Given the description of an element on the screen output the (x, y) to click on. 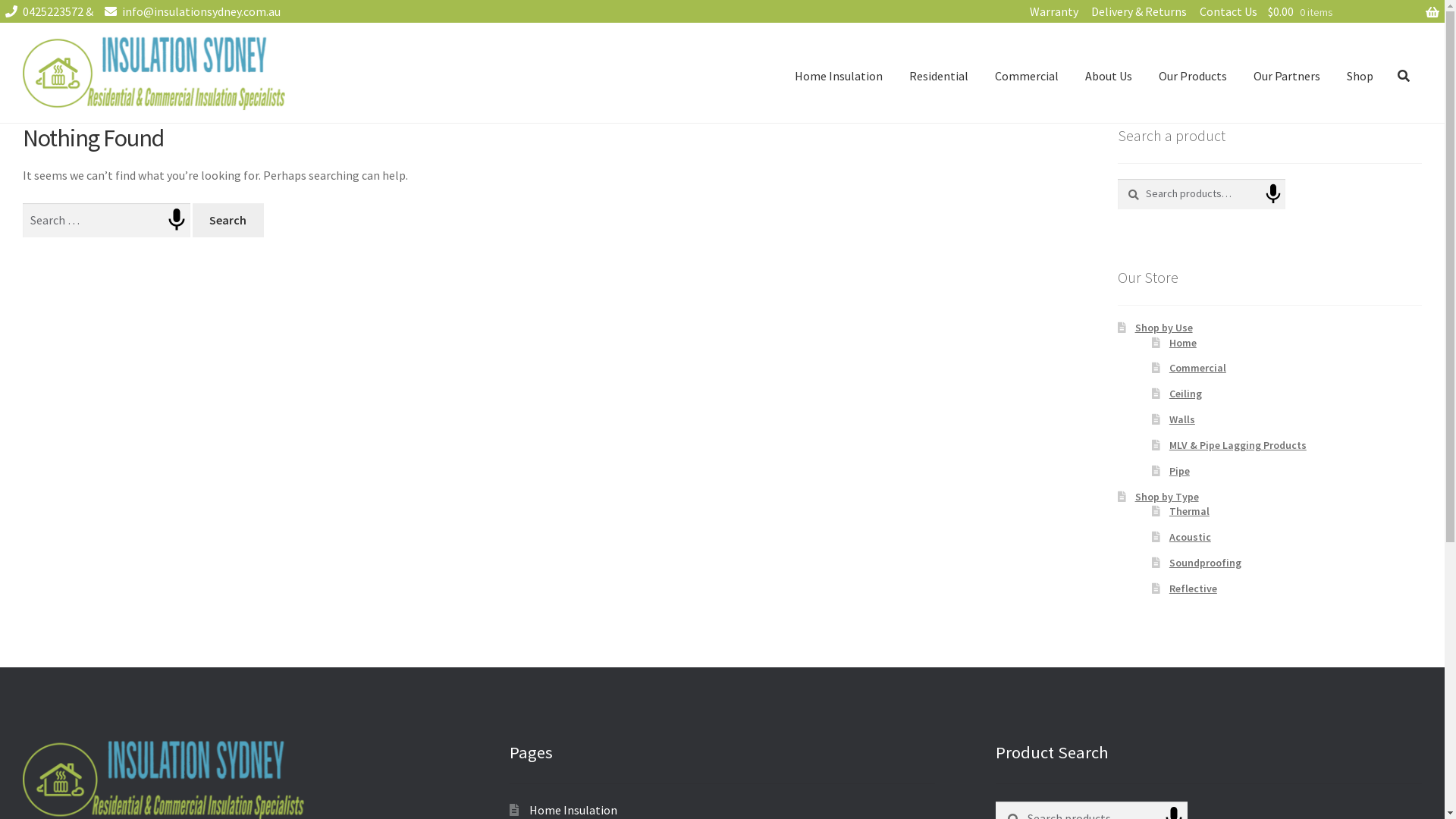
Warranty Element type: text (1053, 11)
info@insulationsydney.com.au Element type: text (189, 10)
Delivery & Returns Element type: text (1138, 11)
Search Element type: text (227, 220)
Thermal Element type: text (1189, 510)
Commercial Element type: text (1197, 367)
0425223572 & Element type: text (47, 10)
Acoustic Element type: text (1190, 536)
Home Element type: text (1182, 342)
Commercial Element type: text (1026, 76)
Pipe Element type: text (1179, 470)
Residential Element type: text (938, 76)
Speech Input Element type: text (1273, 194)
Home Insulation Element type: text (573, 809)
About Us Element type: text (1108, 76)
$0.00 0 items Element type: text (1353, 11)
Search Element type: text (994, 800)
Speech Input Element type: text (176, 219)
Our Products Element type: text (1192, 76)
Walls Element type: text (1182, 419)
Ceiling Element type: text (1185, 393)
Shop Element type: text (1359, 76)
Our Partners Element type: text (1286, 76)
Soundproofing Element type: text (1205, 562)
Contact Us Element type: text (1228, 11)
Home Insulation Element type: text (838, 76)
MLV & Pipe Lagging Products Element type: text (1237, 444)
Search Element type: text (1117, 178)
Shop by Use Element type: text (1163, 327)
Skip to navigation Element type: text (21, 78)
Shop by Type Element type: text (1166, 496)
Reflective Element type: text (1193, 588)
